Given the description of an element on the screen output the (x, y) to click on. 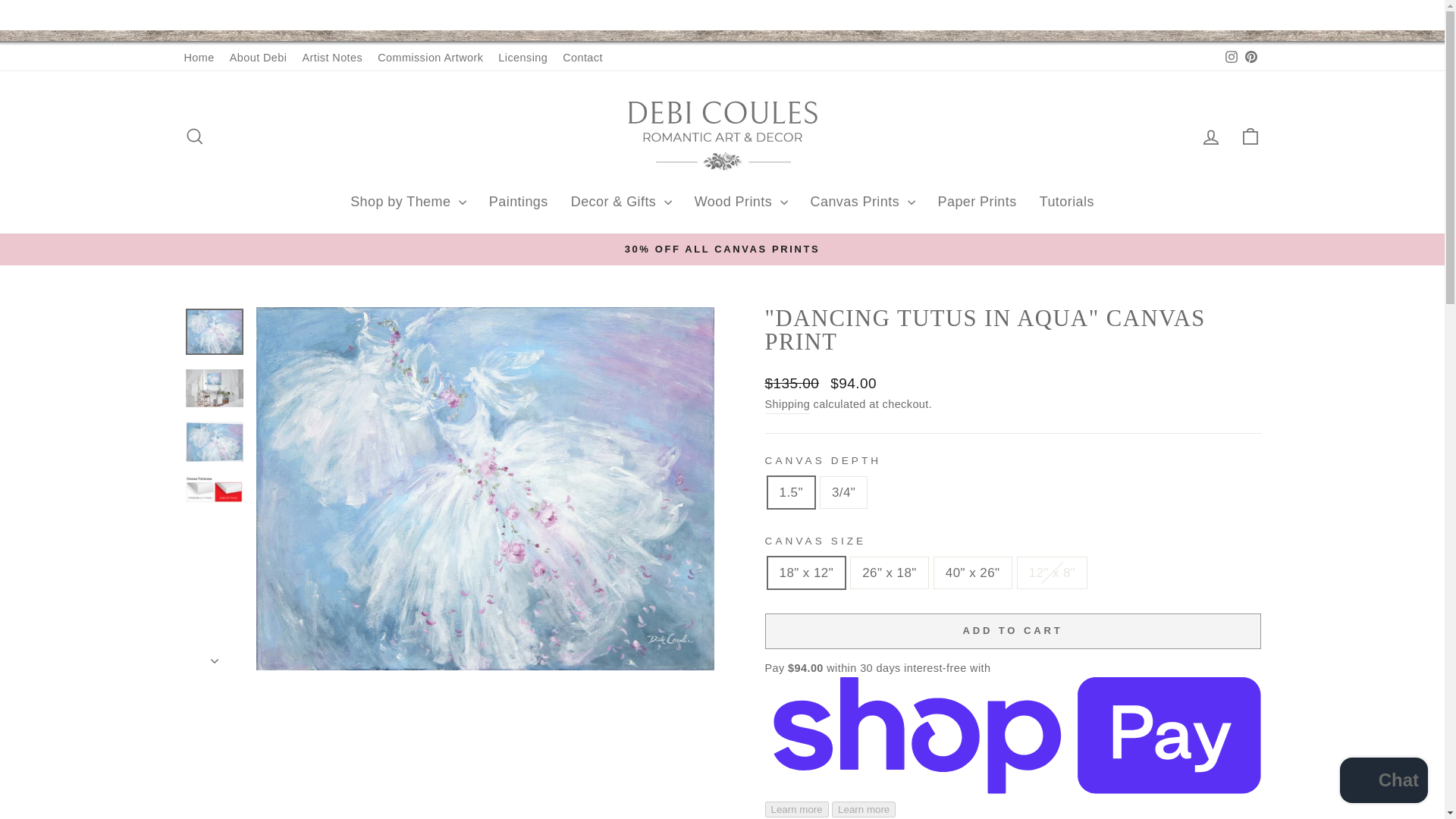
icon-search (194, 136)
Shopify online store chat (1383, 781)
instagram (1231, 56)
account (1210, 137)
icon-bag-minimal (1249, 136)
